Given the description of an element on the screen output the (x, y) to click on. 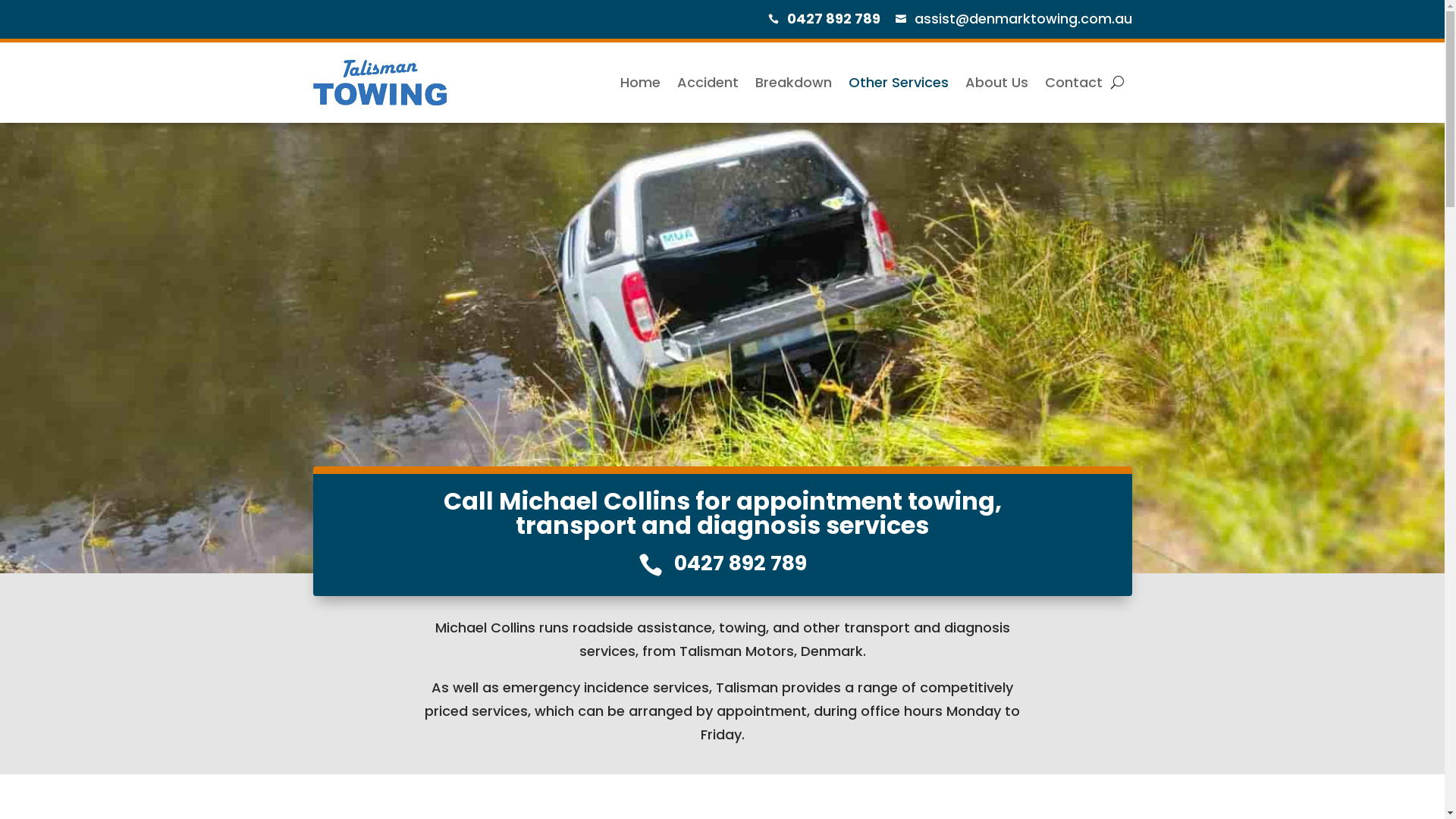
0427 892 789 Element type: text (739, 563)
Breakdown Element type: text (793, 82)
Contact Element type: text (1073, 82)
Home Element type: text (640, 82)
Skip to content Element type: text (0, 0)
Other Services Element type: text (897, 82)
assist@denmarktowing.com.au Element type: text (1023, 18)
Accident Element type: text (706, 82)
About Us Element type: text (995, 82)
